Given the description of an element on the screen output the (x, y) to click on. 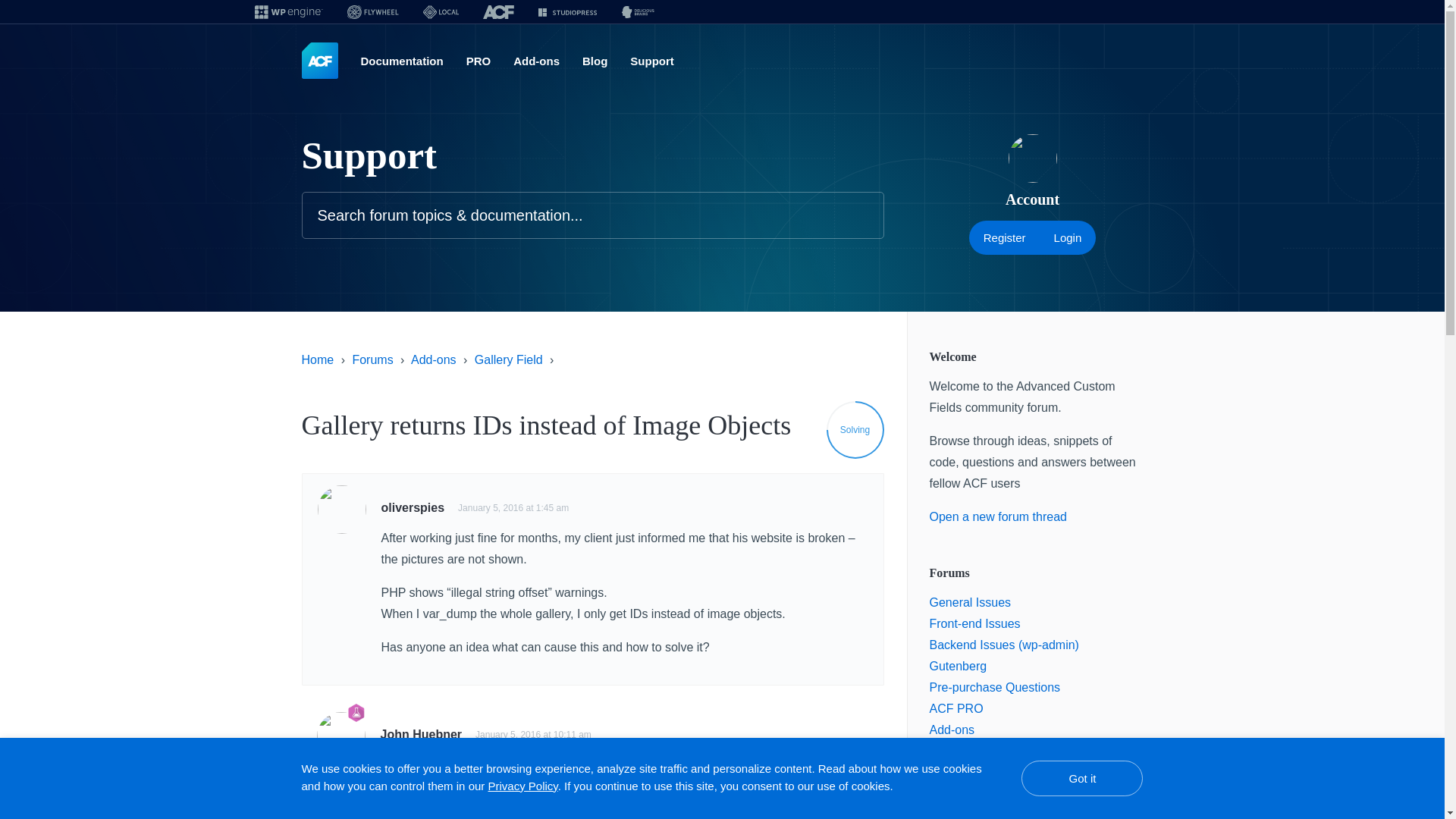
Bug Reports (963, 750)
ACF (497, 11)
Solving (855, 429)
Feedback (956, 793)
Advanced Custom Fields (319, 61)
Forums (372, 359)
Pre-purchase Questions (995, 686)
Add-ons (536, 61)
Feature Requests (978, 771)
Gutenberg (958, 666)
Local (440, 11)
PRO (478, 61)
Add-ons (433, 359)
Front-end Issues (975, 623)
Flywheel (372, 11)
